Given the description of an element on the screen output the (x, y) to click on. 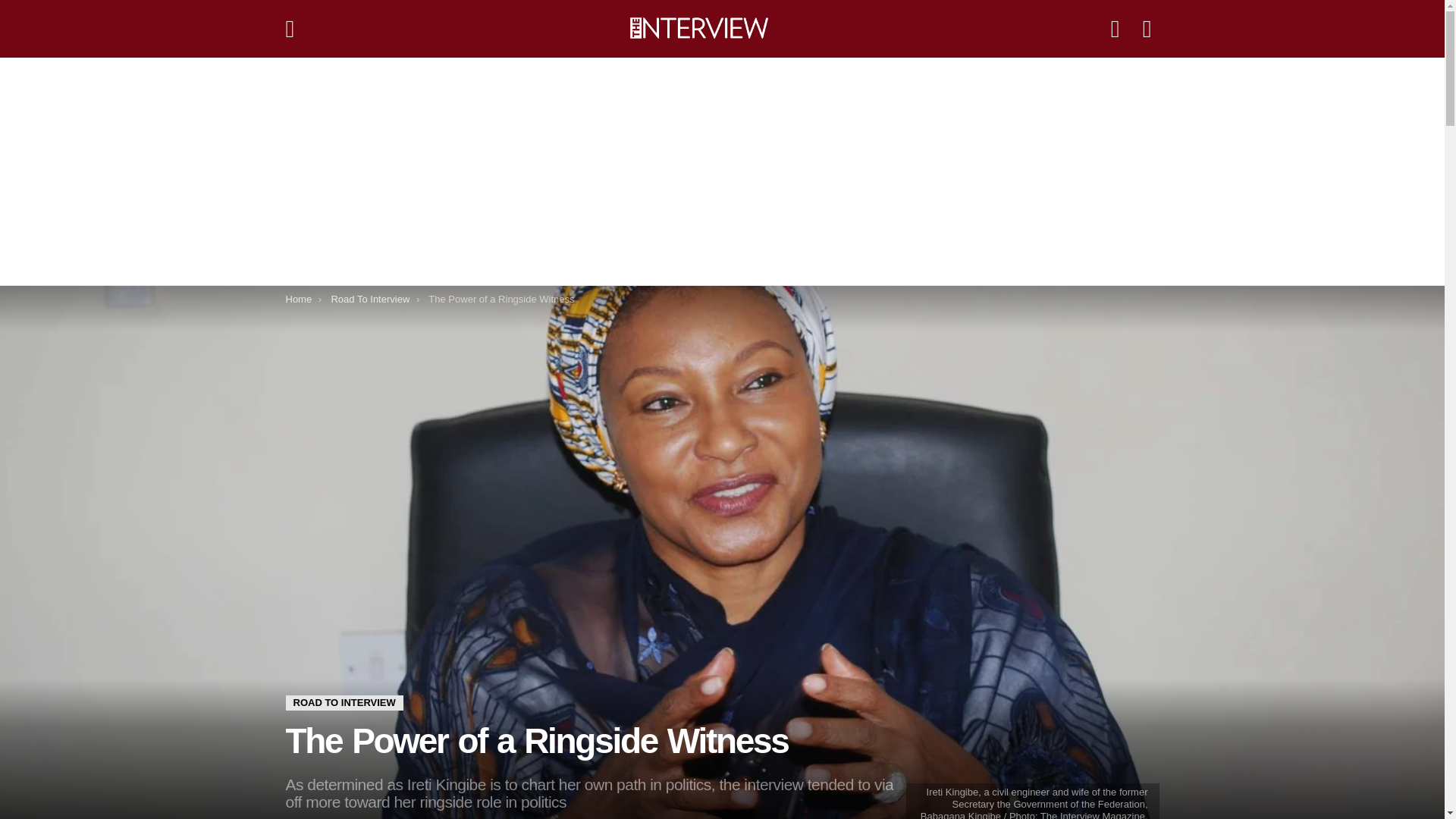
Home (298, 298)
ROAD TO INTERVIEW (344, 702)
Road To Interview (369, 298)
